Given the description of an element on the screen output the (x, y) to click on. 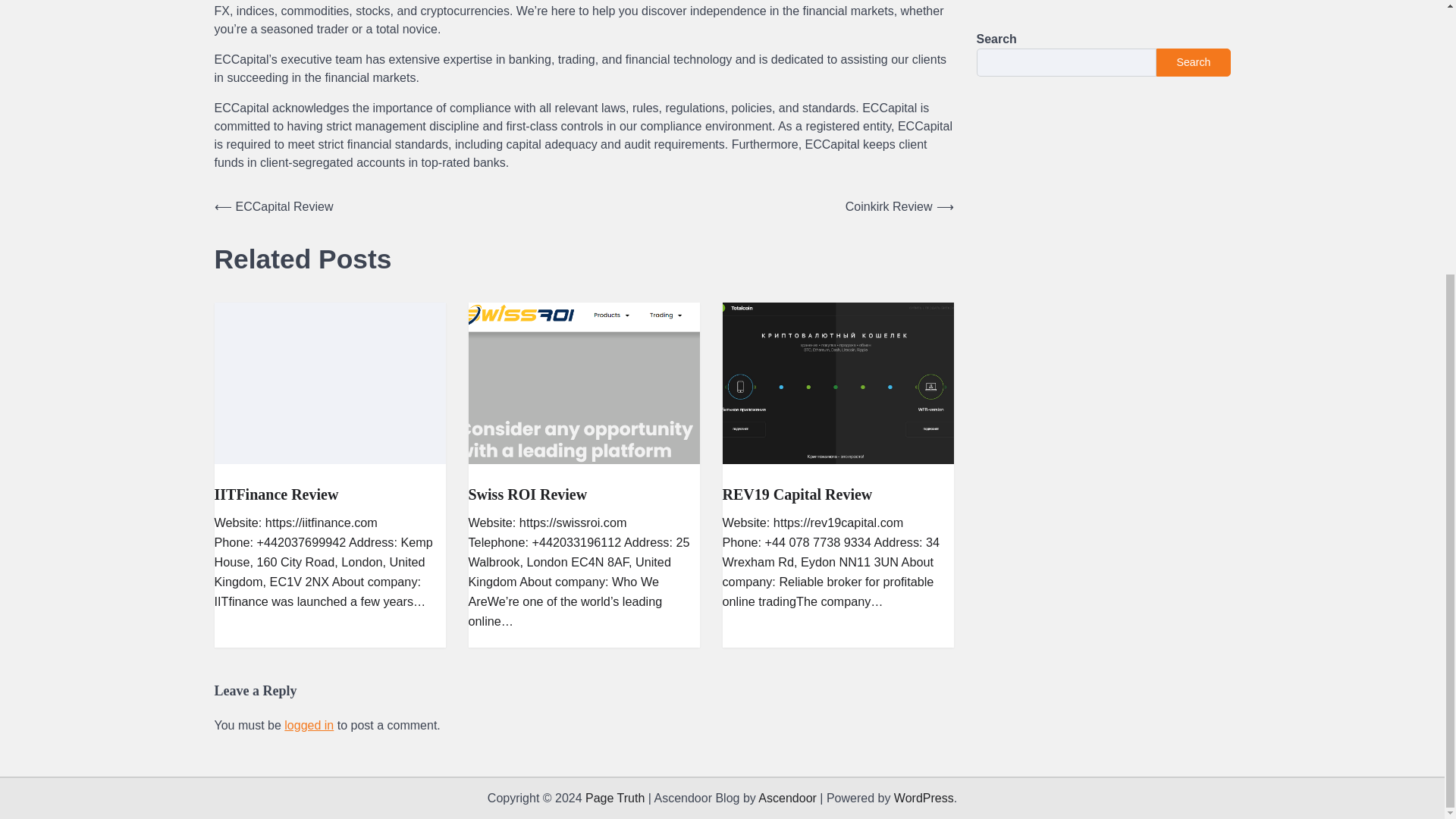
logged in (308, 725)
Page Truth (615, 797)
IITFinance Review (275, 494)
Ascendoor (787, 797)
Swiss ROI Review (528, 494)
REV19 Capital Review (797, 494)
WordPress (923, 797)
